Given the description of an element on the screen output the (x, y) to click on. 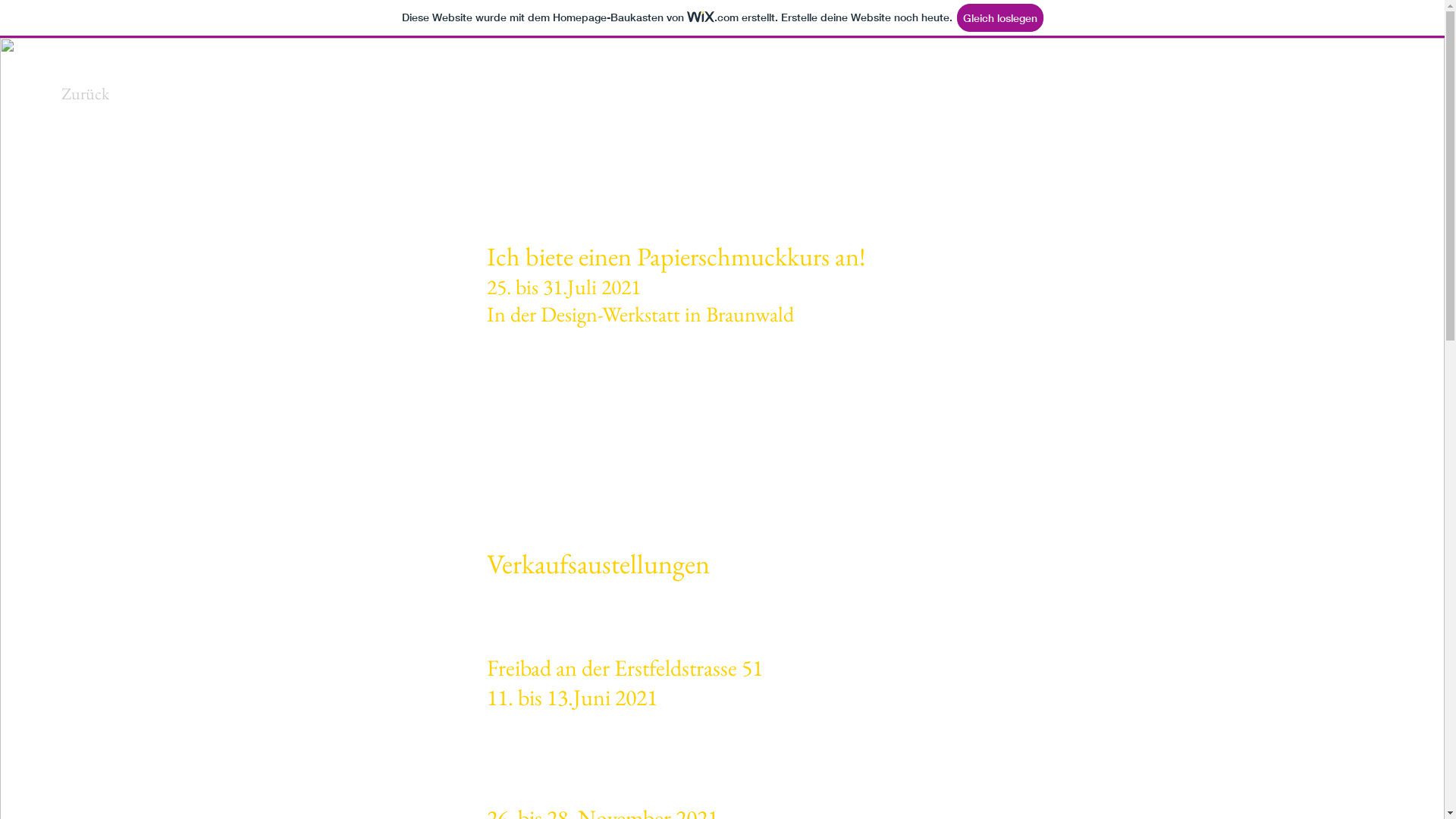
www.stuessi.de Element type: text (536, 470)
